Given the description of an element on the screen output the (x, y) to click on. 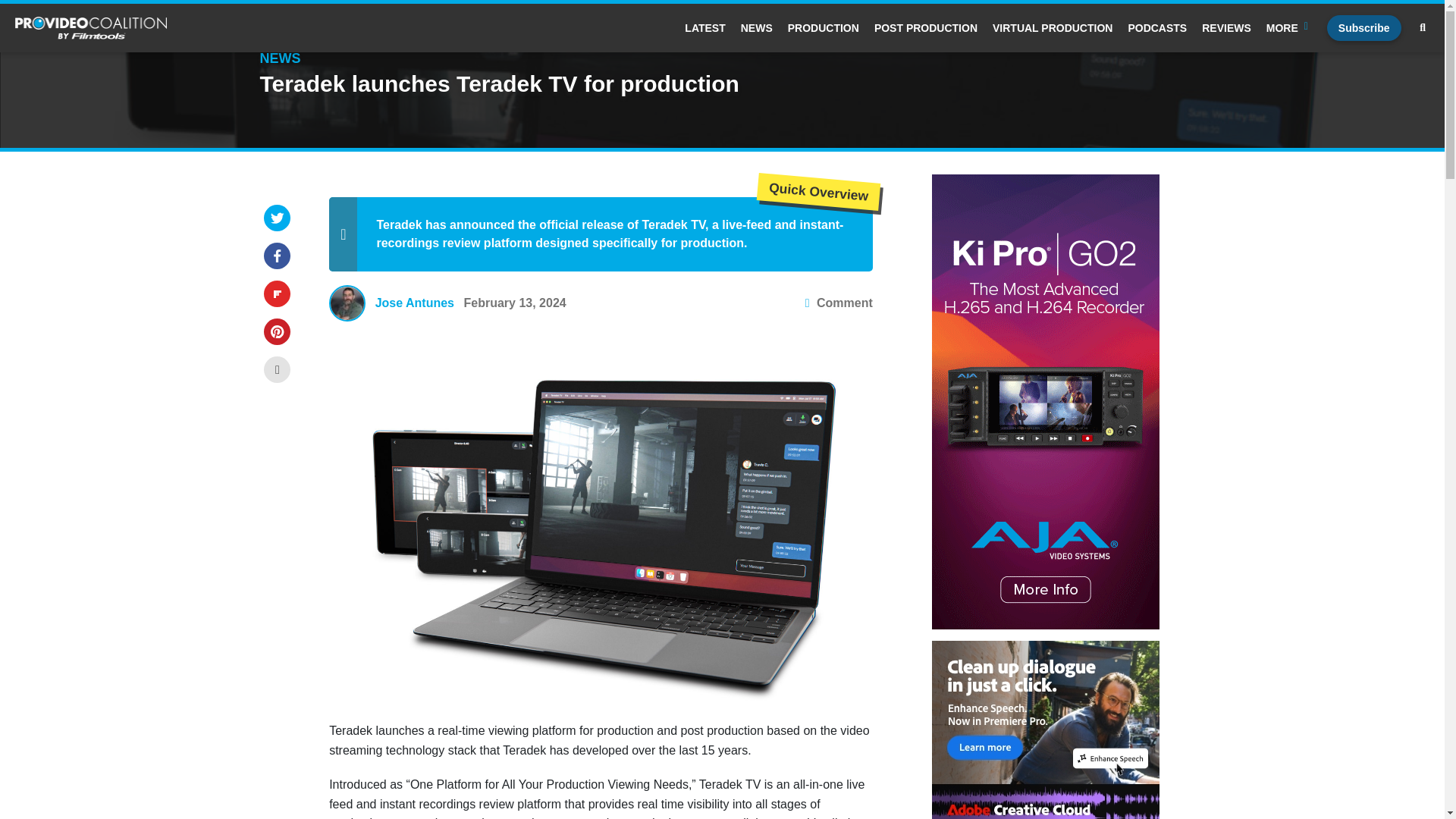
Podcasts (1156, 27)
More   (1288, 27)
Search (644, 274)
POST PRODUCTION (925, 27)
Reviews (1226, 27)
News (757, 27)
Post Production (925, 27)
Subscribe (1363, 27)
Search (1422, 27)
VIRTUAL PRODUCTION (1052, 27)
NEWS (757, 27)
LATEST (704, 27)
PODCASTS (1156, 27)
Virtual Production (1052, 27)
PRODUCTION (823, 27)
